Given the description of an element on the screen output the (x, y) to click on. 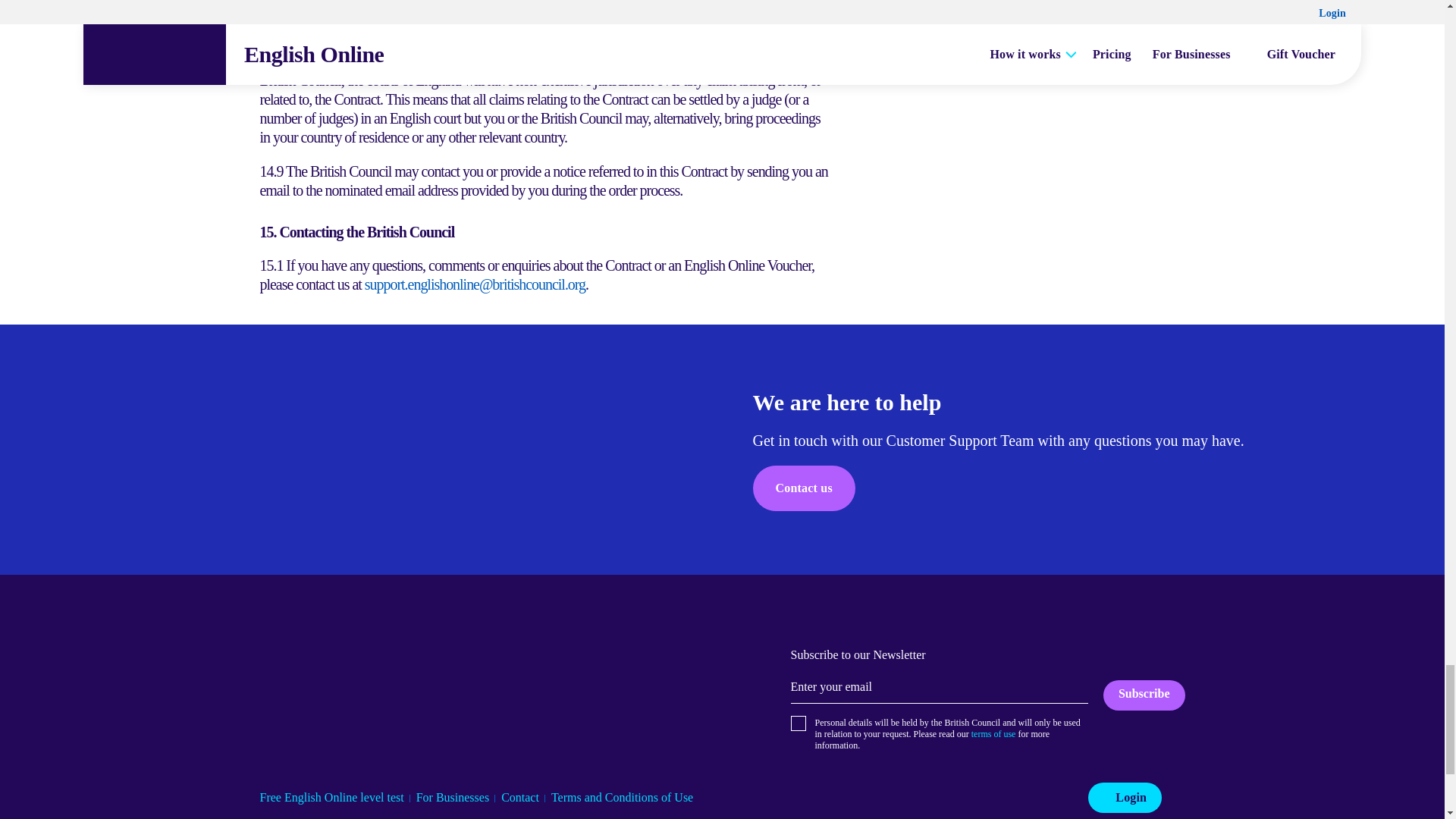
Login (1124, 797)
Contact (519, 797)
For Businesses (452, 797)
terms of use (993, 733)
Subscribe (1144, 694)
Subscribe (1144, 694)
Free English Online level test (331, 797)
Terms and Conditions of Use (622, 797)
Contact us (803, 488)
